Given the description of an element on the screen output the (x, y) to click on. 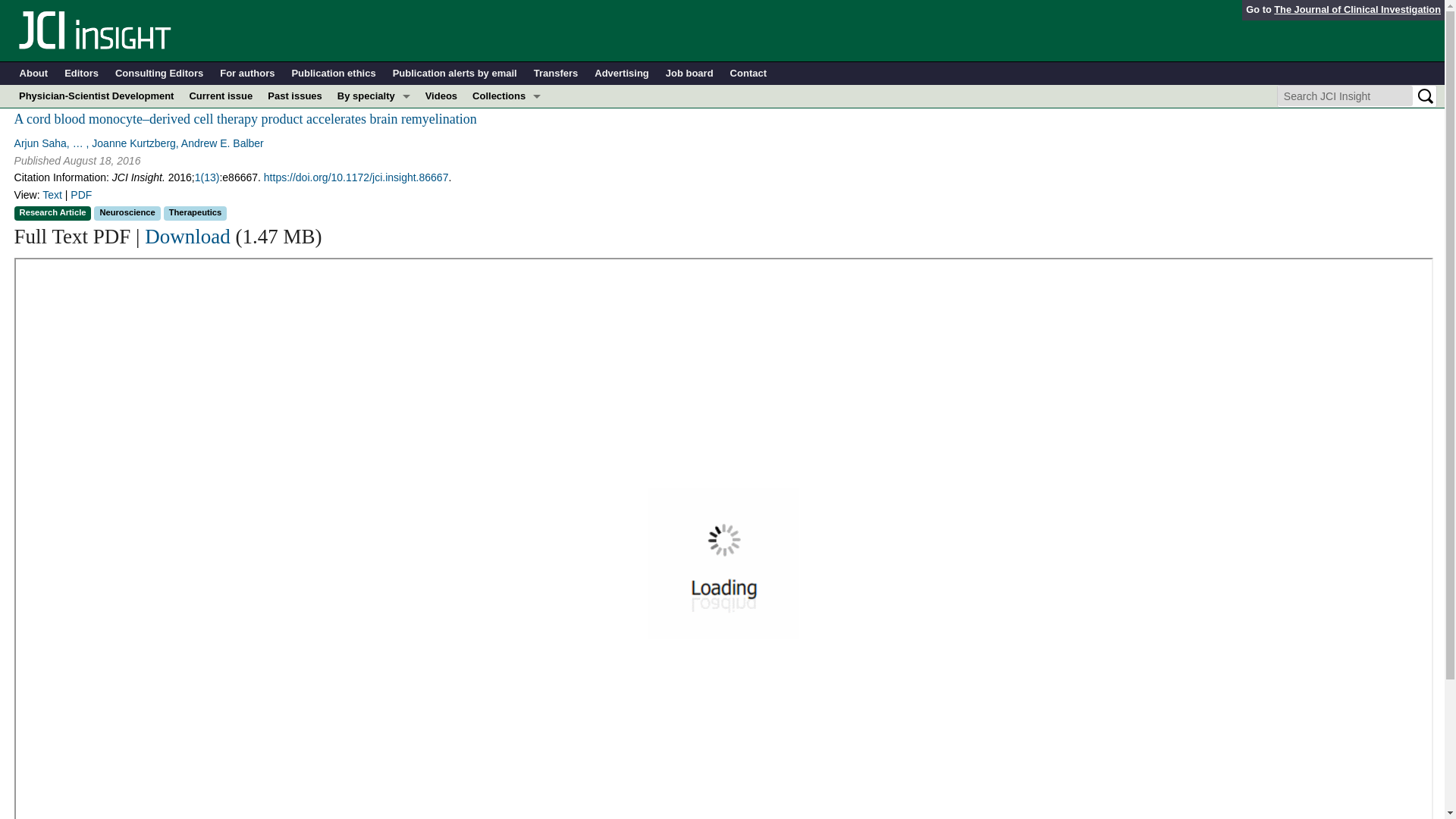
Current issue (220, 96)
Physician-Scientist Development (95, 96)
Resource and Technical Advances (506, 141)
Publication ethics (333, 73)
In-Press Preview (506, 118)
Nephrology (373, 210)
Clinical Medicine (506, 164)
Metabolism (373, 187)
Perspectives (506, 210)
About (34, 73)
